Given the description of an element on the screen output the (x, y) to click on. 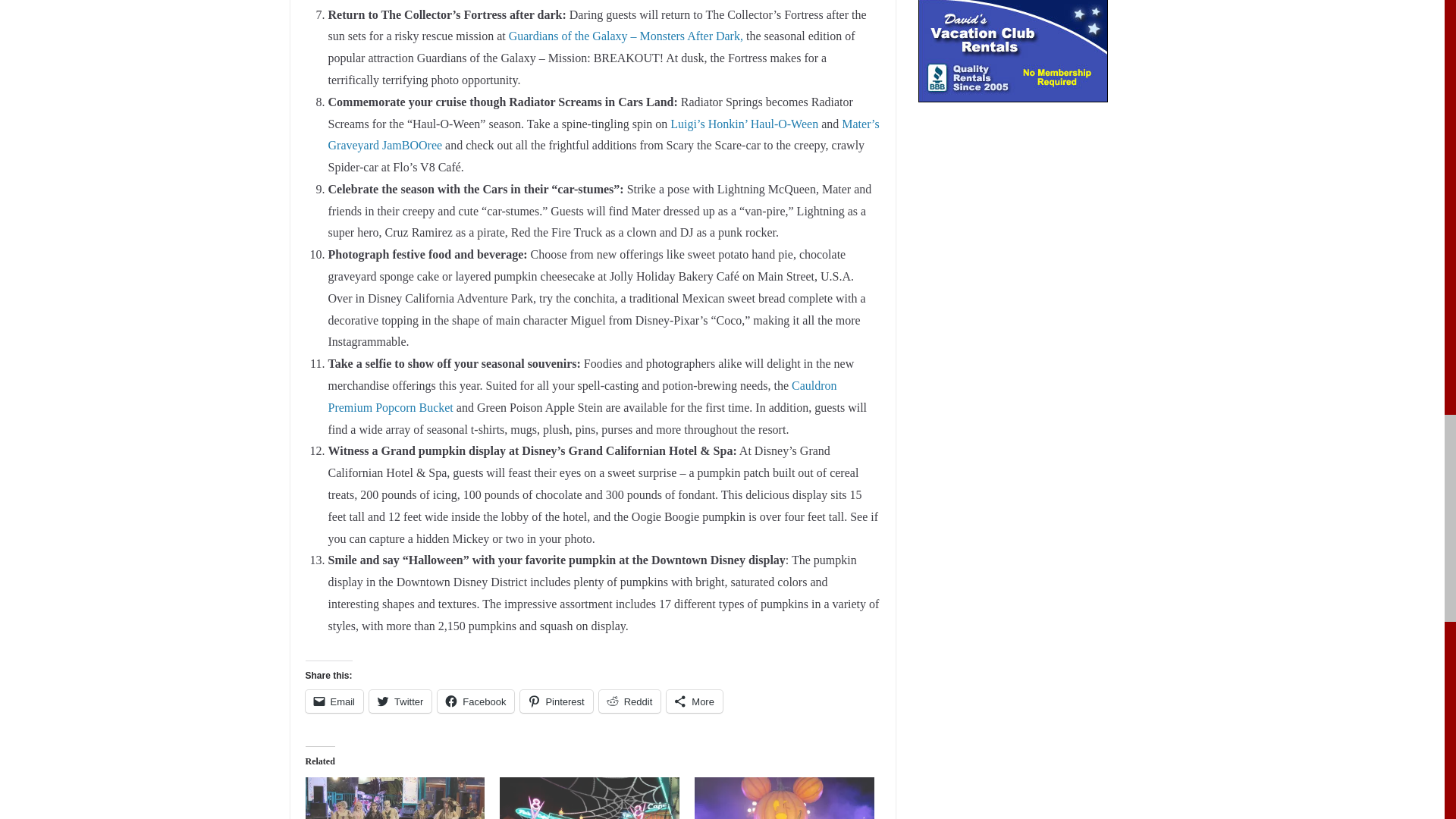
Click to email a link to a friend (333, 701)
